Given the description of an element on the screen output the (x, y) to click on. 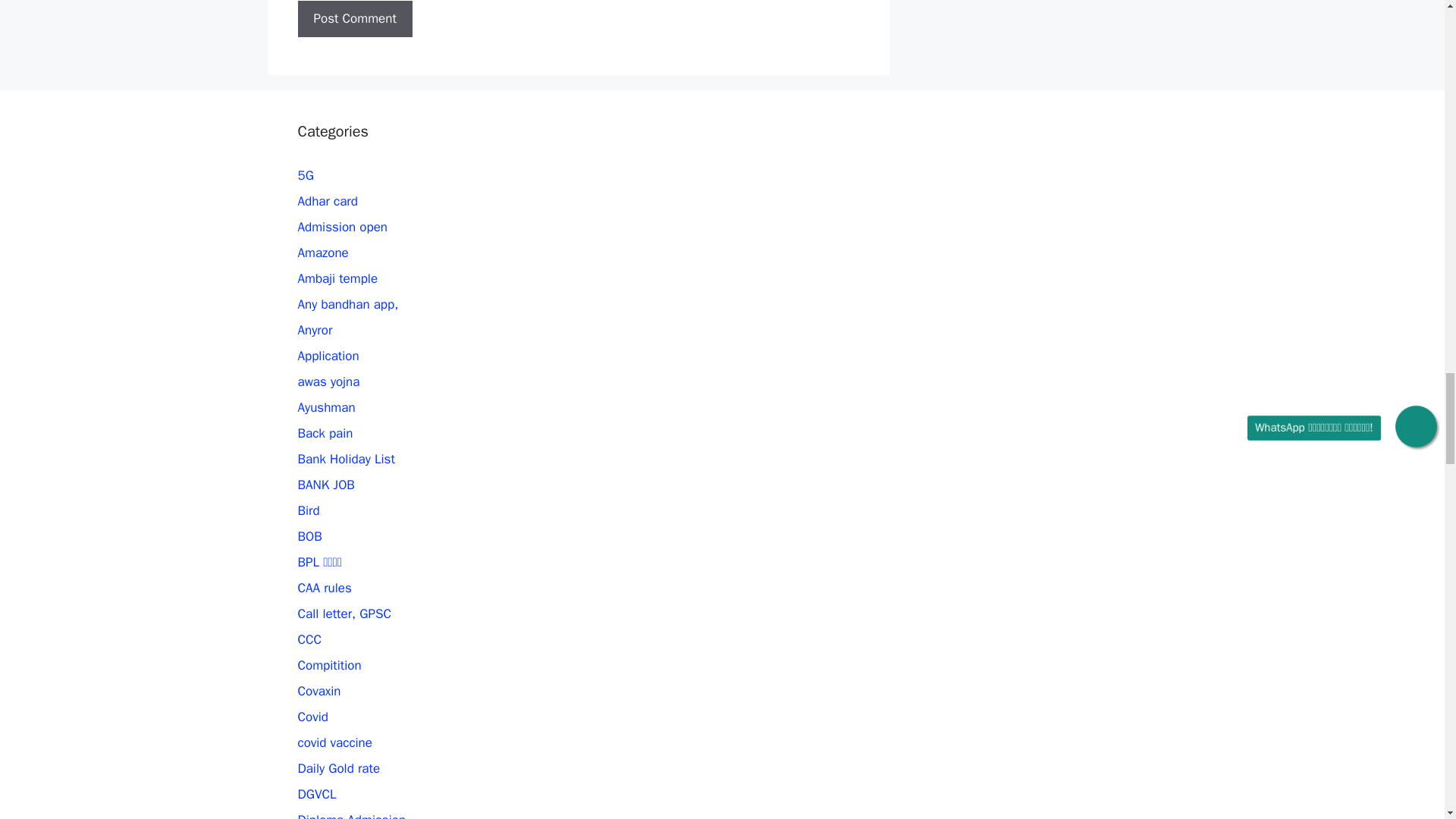
CAA rules (323, 587)
Adhar card (326, 201)
Post Comment (354, 18)
Application (327, 355)
5G (305, 175)
Amazone (322, 252)
Ambaji temple (337, 278)
Admission open (342, 227)
Post Comment (354, 18)
Bank Holiday List (345, 458)
Any bandhan app, (347, 304)
Bird (307, 510)
Back pain (324, 433)
BOB (309, 536)
BANK JOB (325, 484)
